Given the description of an element on the screen output the (x, y) to click on. 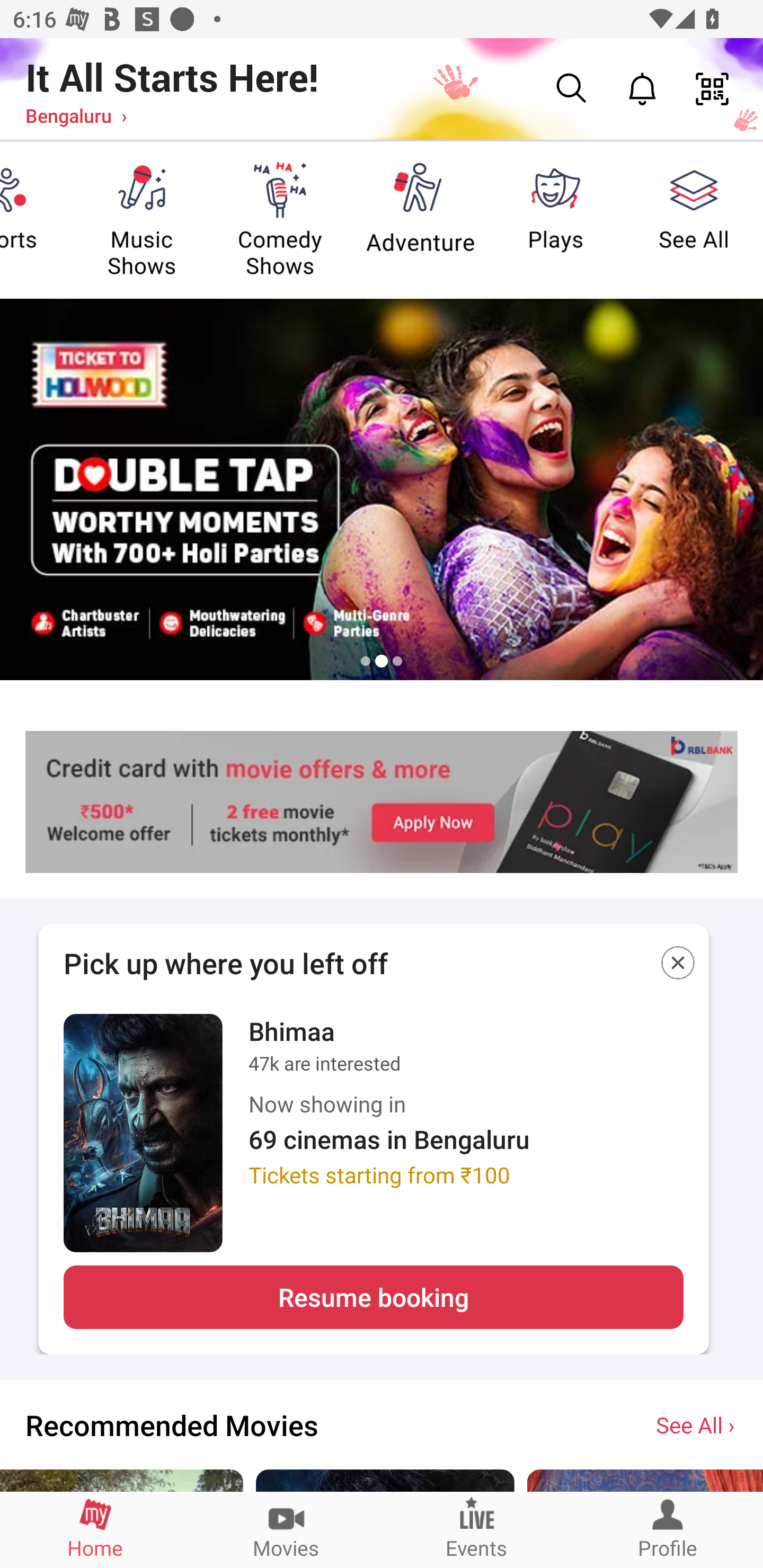
Bengaluru  › (76, 114)
  (678, 966)
Resume booking (373, 1297)
See All › (696, 1424)
Home (95, 1529)
Movies (285, 1529)
Events (476, 1529)
Profile (667, 1529)
